Given the description of an element on the screen output the (x, y) to click on. 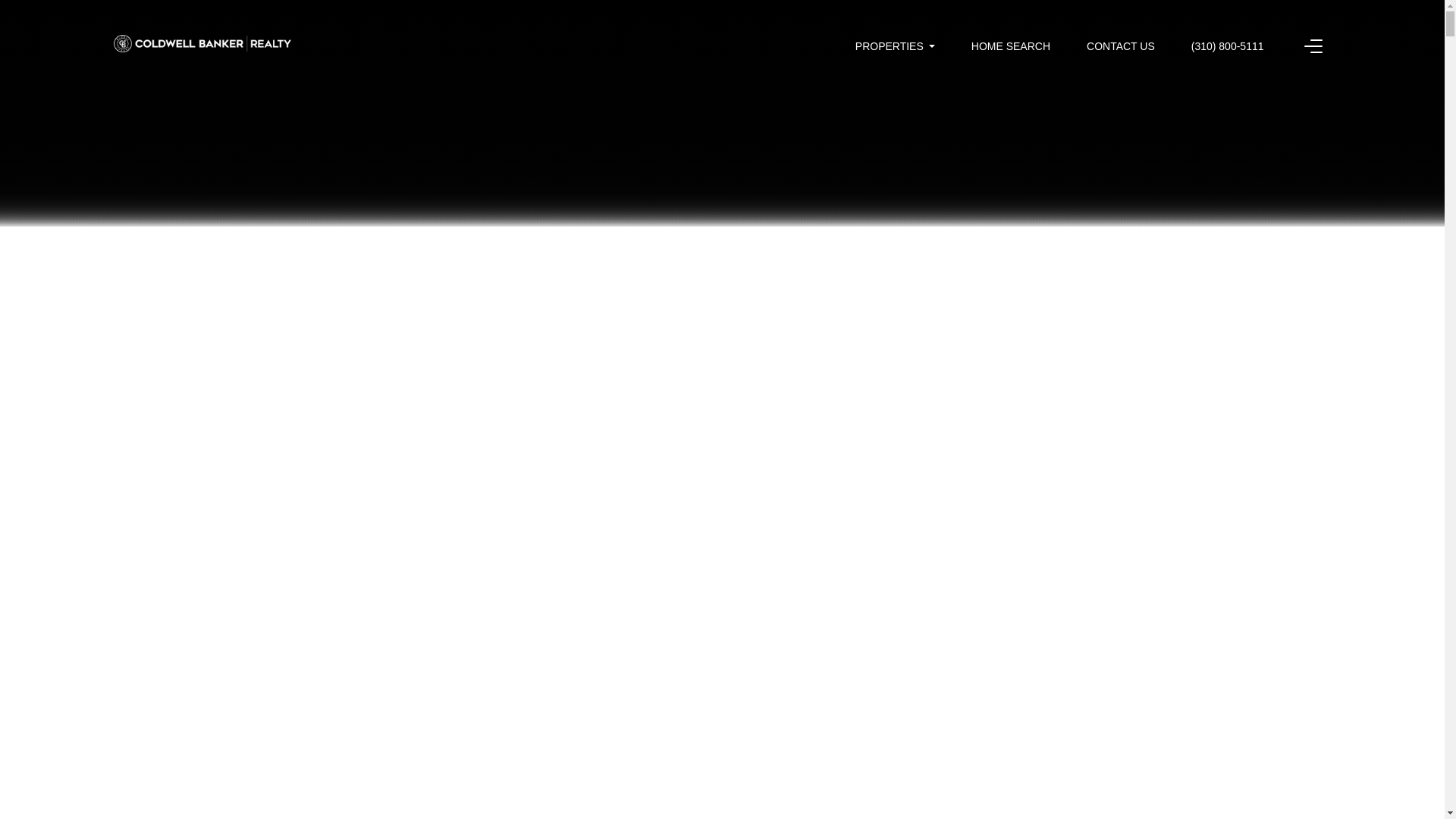
PROPERTIES (895, 46)
CONTACT US (1120, 46)
HOME SEARCH (1010, 46)
